Given the description of an element on the screen output the (x, y) to click on. 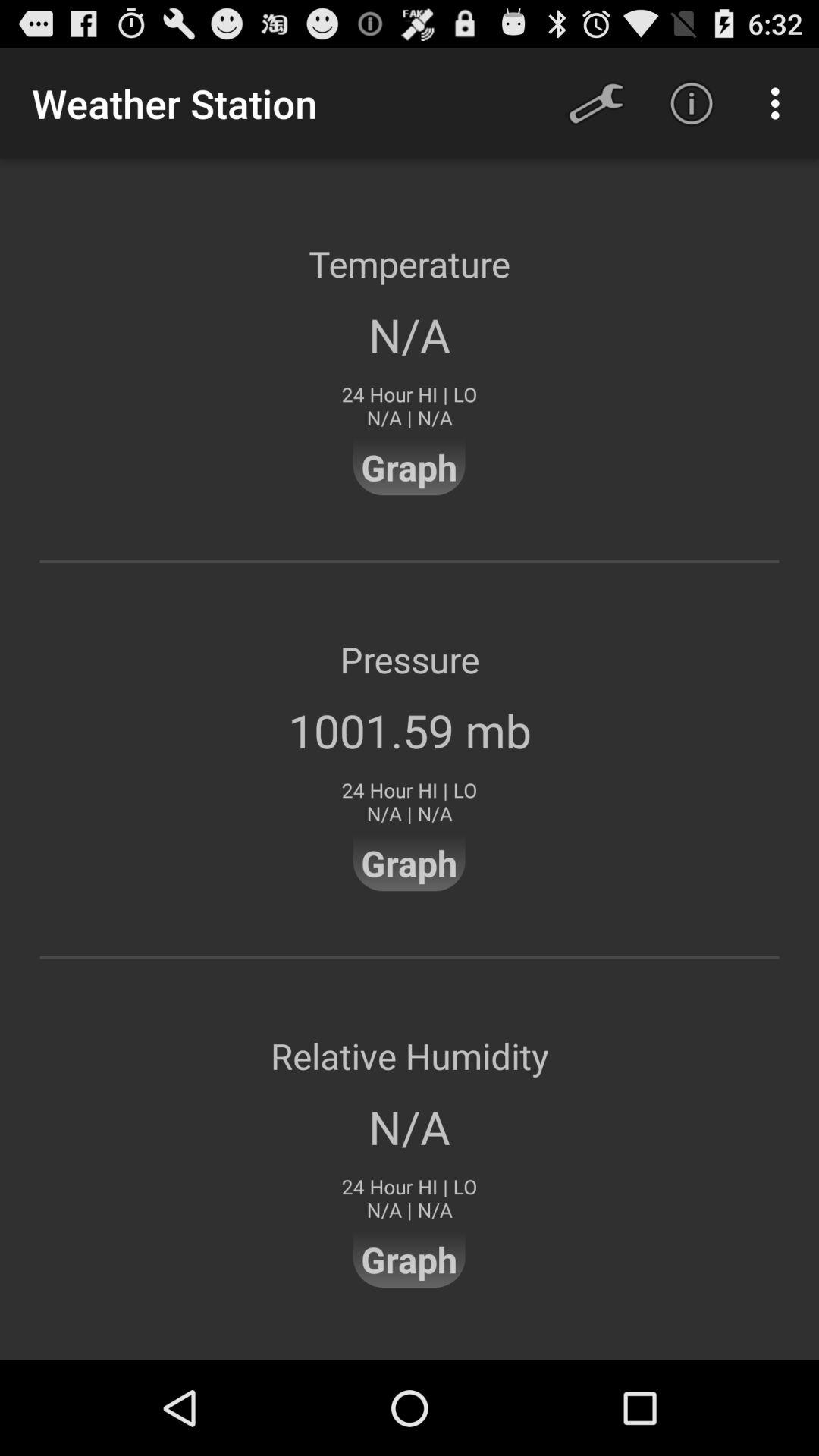
turn off the item to the right of weather station icon (595, 103)
